Given the description of an element on the screen output the (x, y) to click on. 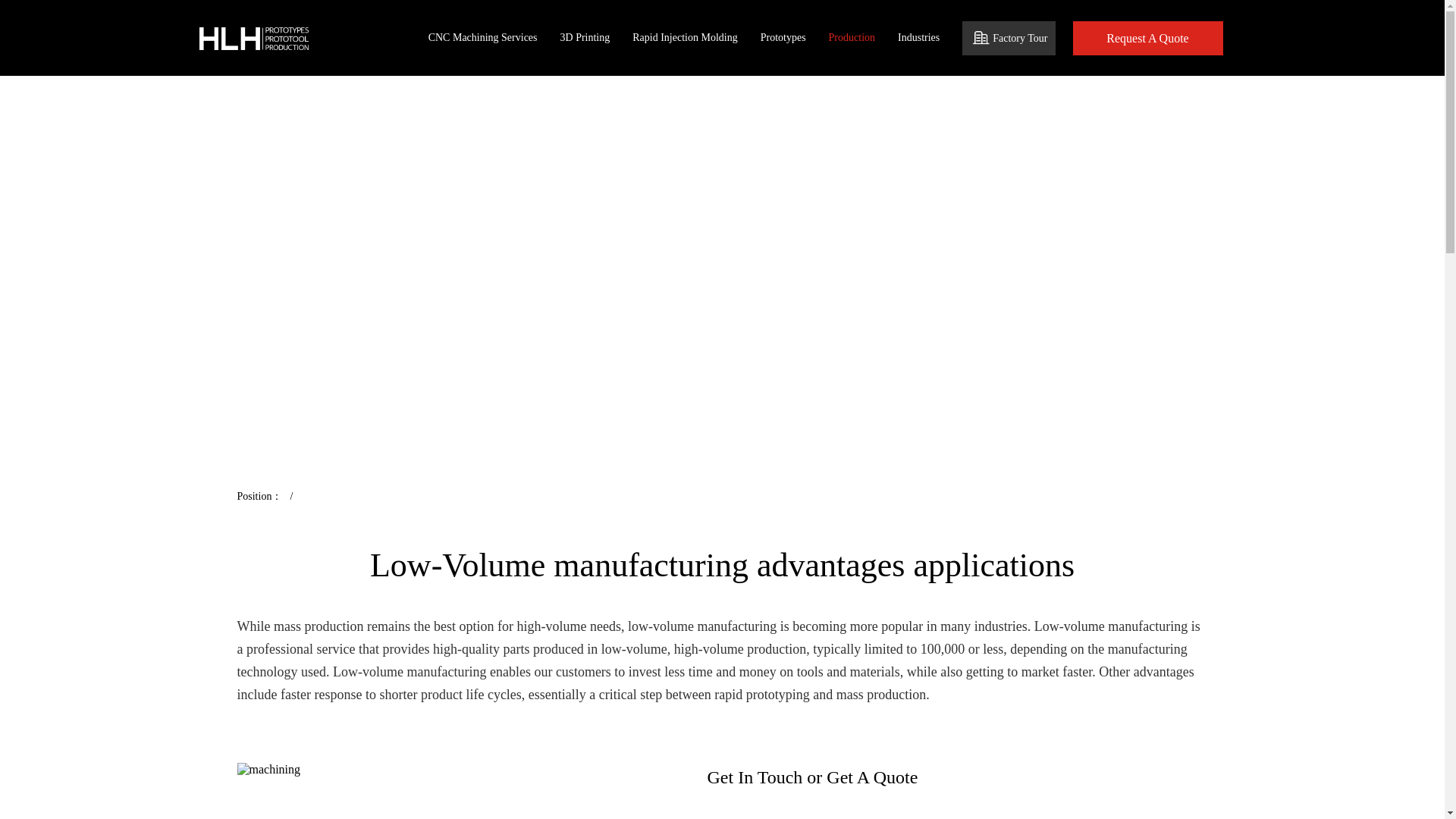
CNC Machining Services (482, 37)
Rapid Injection Molding (683, 37)
CNC Machining Services (482, 37)
Rapid Injection Molding (683, 37)
